Given the description of an element on the screen output the (x, y) to click on. 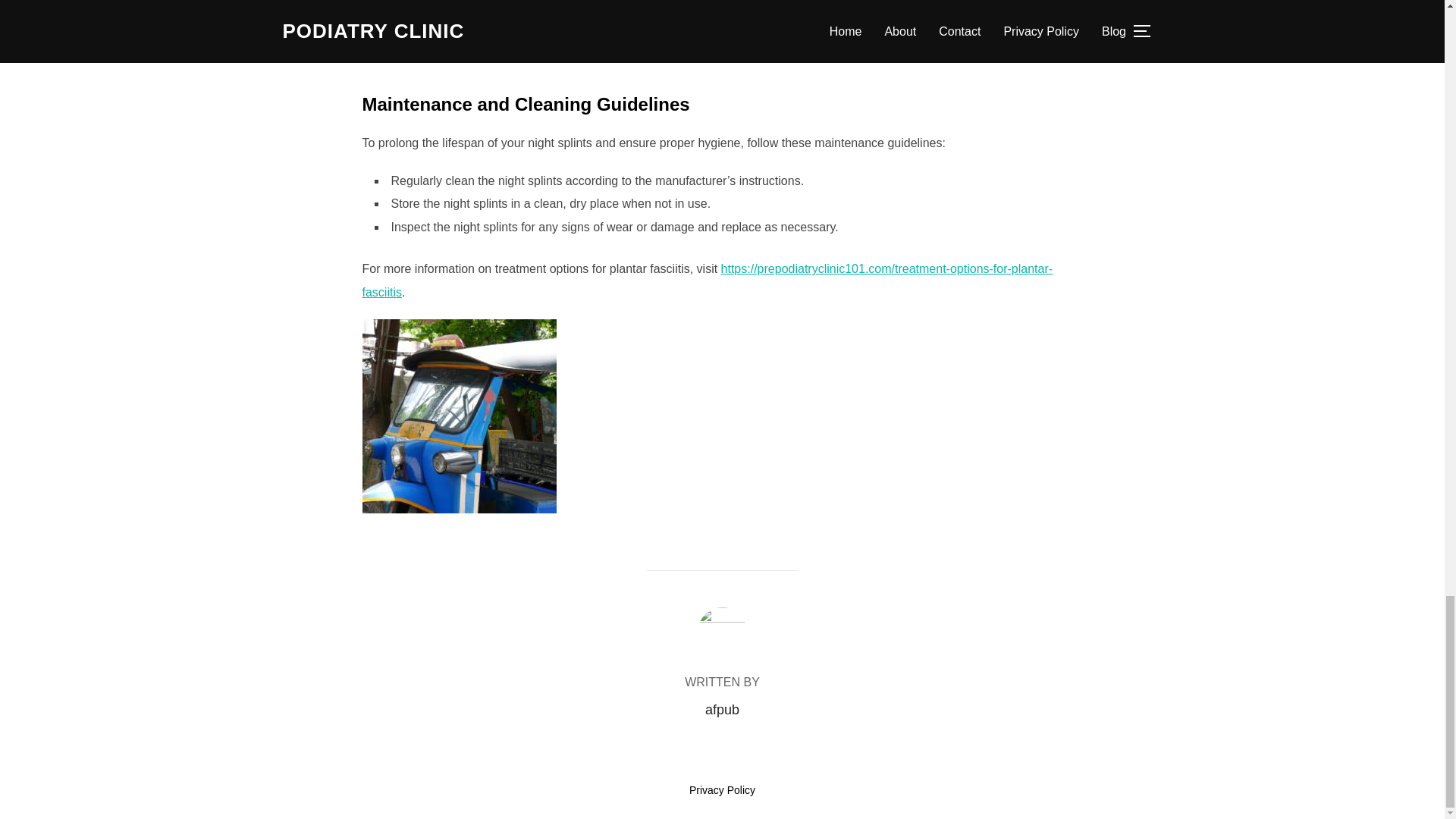
Posts by afpub (721, 709)
afpub (721, 709)
Privacy Policy (721, 789)
